Given the description of an element on the screen output the (x, y) to click on. 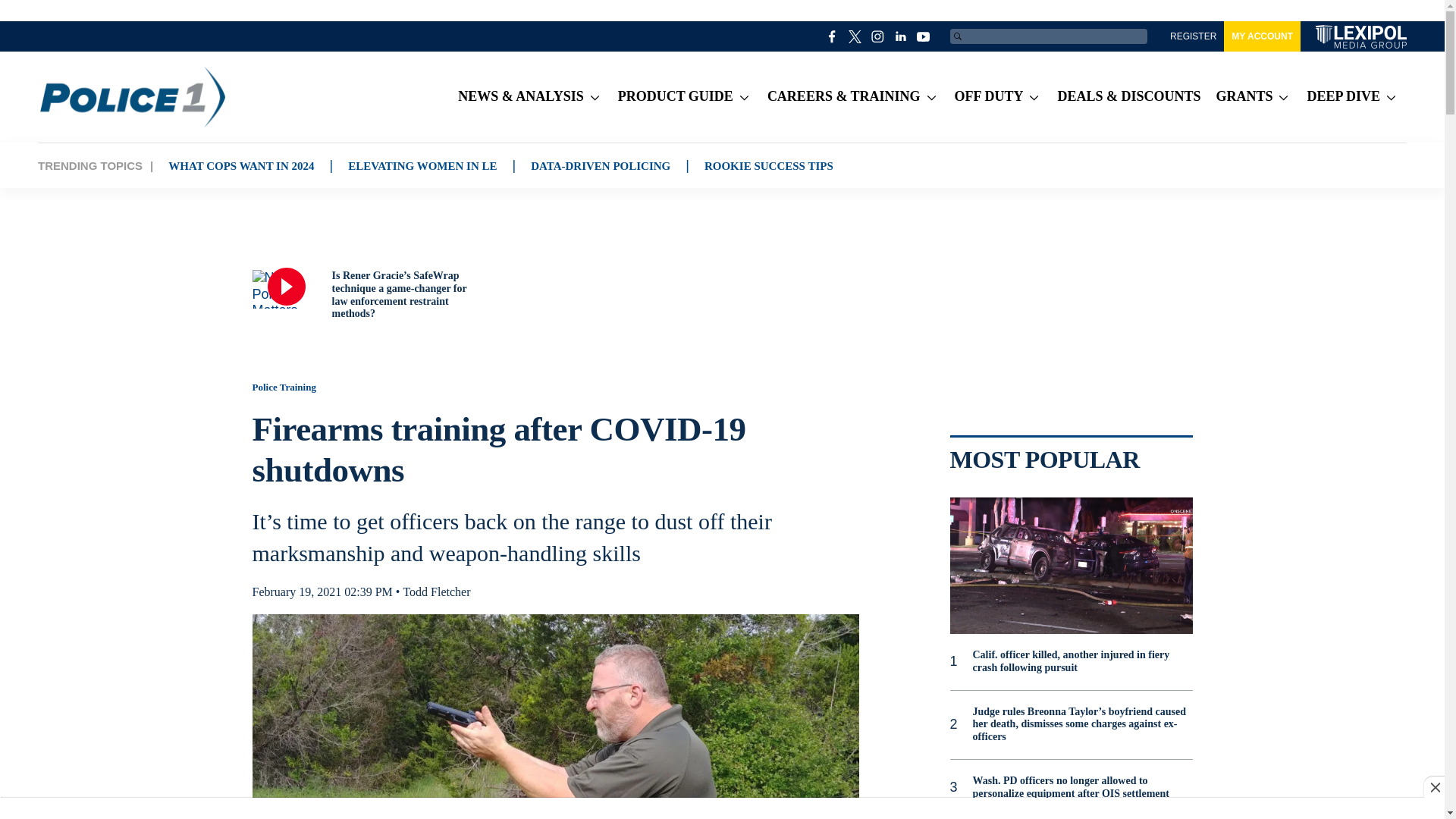
instagram (877, 36)
youtube (923, 36)
MY ACCOUNT (1262, 36)
facebook (832, 36)
linkedin (900, 36)
REGISTER (1192, 36)
twitter (855, 36)
